Given the description of an element on the screen output the (x, y) to click on. 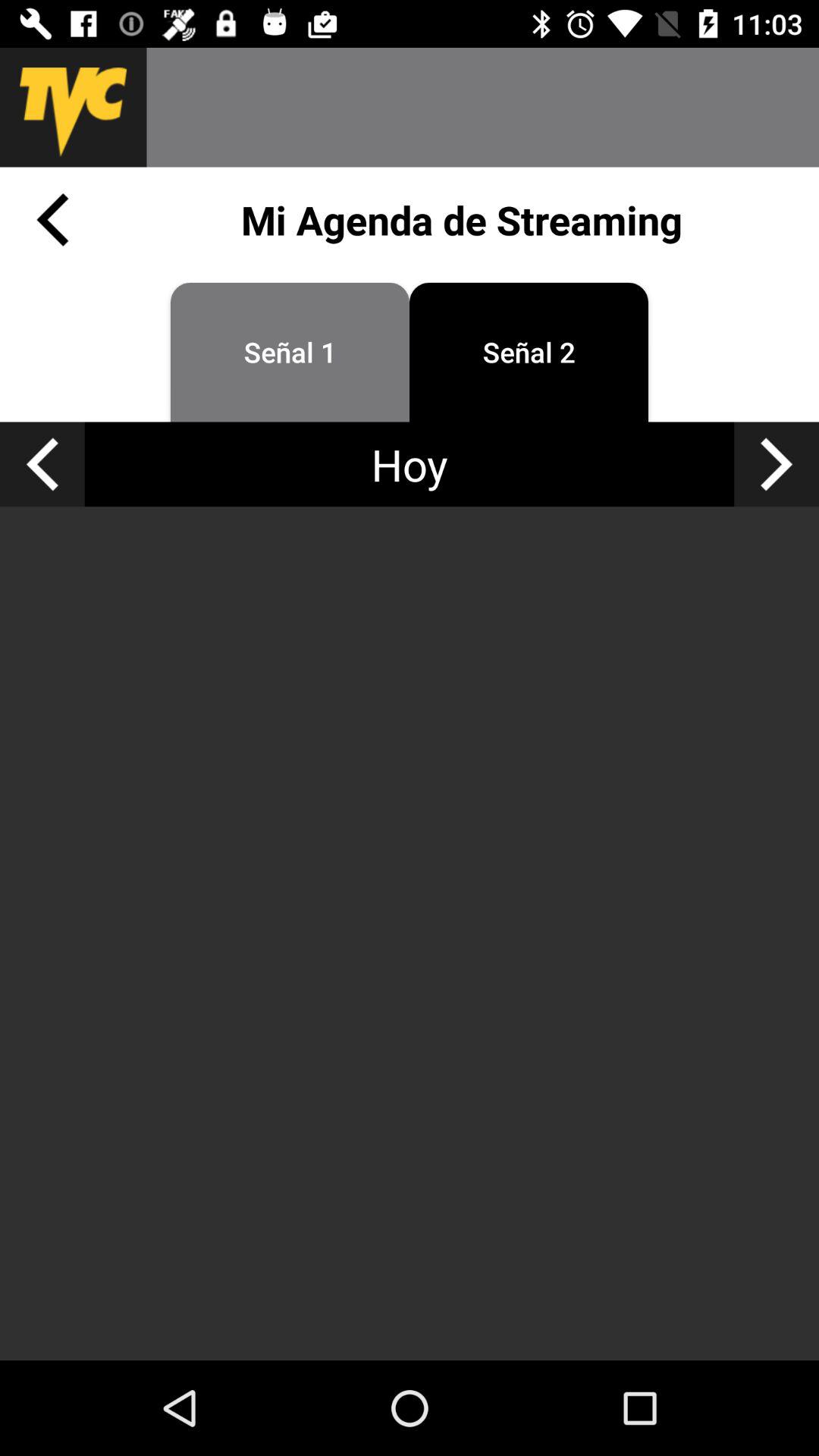
go to tomorrow 's agenda (776, 464)
